Given the description of an element on the screen output the (x, y) to click on. 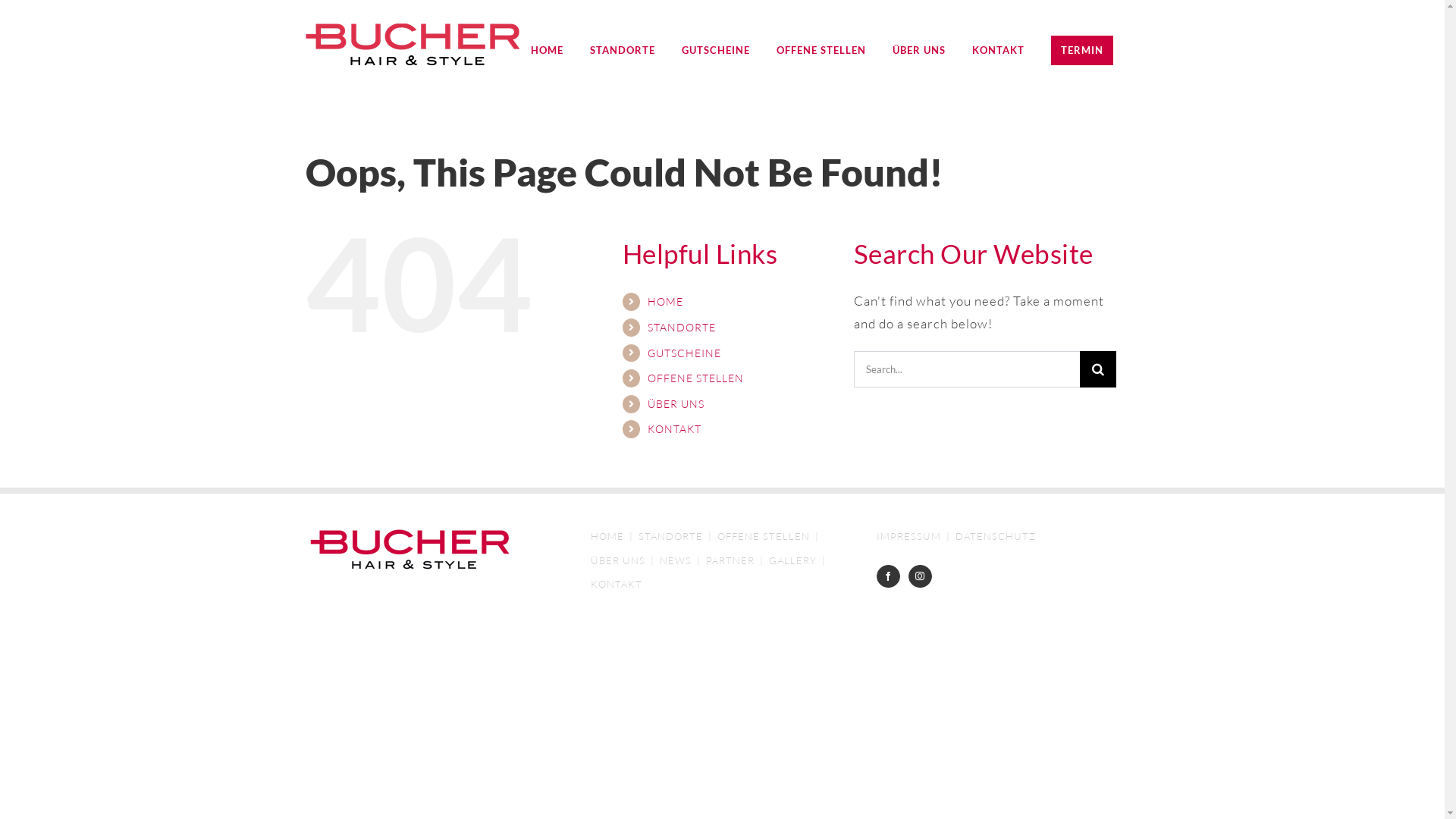
OFFENE STELLEN Element type: text (770, 536)
IMPRESSUM Element type: text (915, 536)
GUTSCHEINE Element type: text (684, 352)
GALLERY Element type: text (799, 560)
HOME Element type: text (665, 300)
OFFENE STELLEN Element type: text (821, 49)
STANDORTE Element type: text (681, 326)
STANDORTE Element type: text (622, 49)
HOME Element type: text (614, 536)
OFFENE STELLEN Element type: text (695, 377)
KONTAKT Element type: text (674, 428)
GUTSCHEINE Element type: text (714, 49)
Toggle Sliding Bar Element type: hover (1082, 49)
NEWS Element type: text (682, 560)
KONTAKT Element type: text (998, 49)
HOME Element type: text (546, 49)
PARTNER Element type: text (737, 560)
STANDORTE Element type: text (677, 536)
DATENSCHUTZ Element type: text (995, 536)
KONTAKT Element type: text (616, 584)
